Given the description of an element on the screen output the (x, y) to click on. 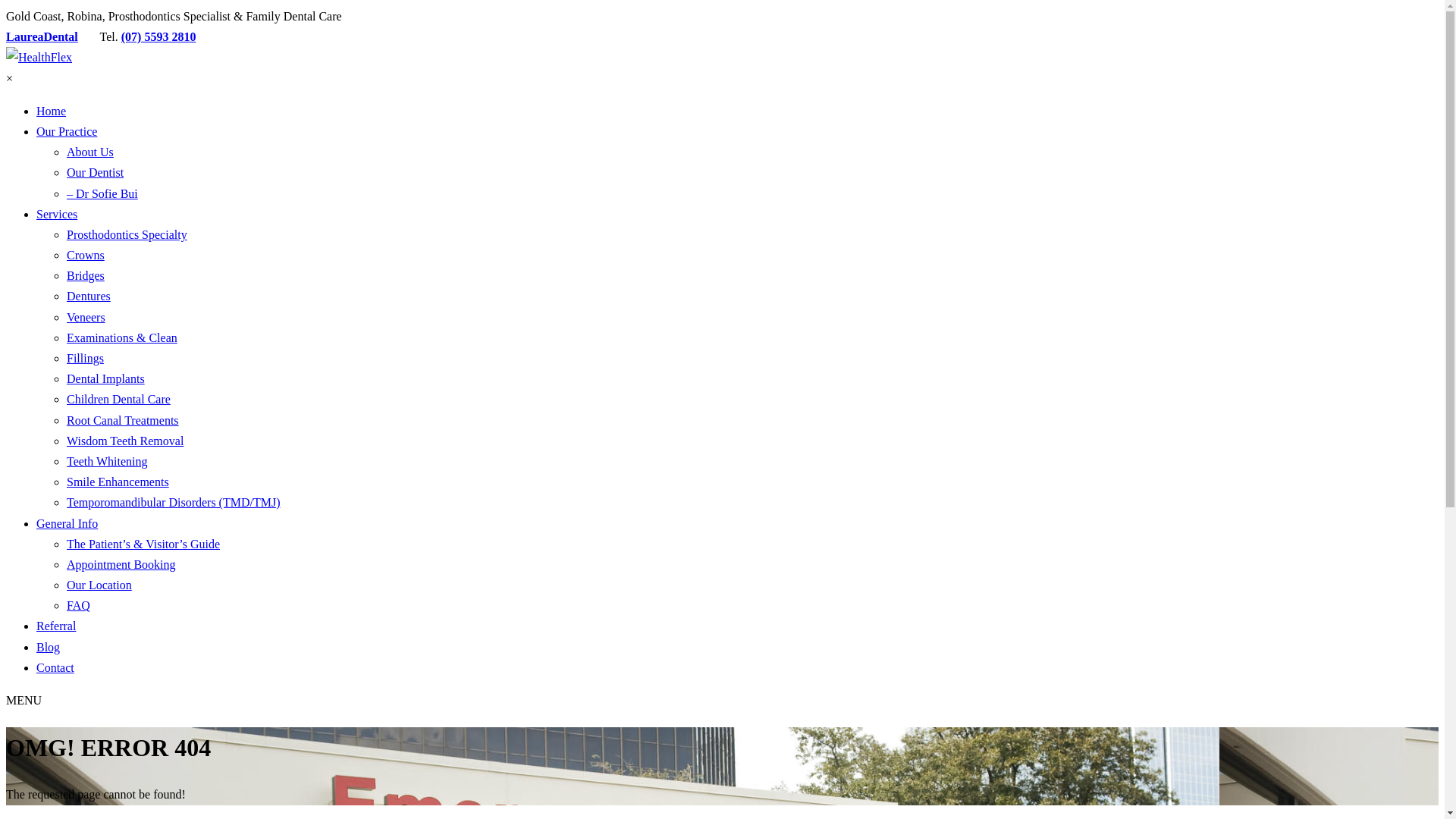
Referral Element type: text (55, 625)
Dentures Element type: text (88, 295)
Teeth Whitening Element type: text (106, 461)
(07) 5593 2810 Element type: text (158, 36)
About Us Element type: text (89, 151)
Services Element type: text (56, 213)
Fillings Element type: text (84, 357)
Our Practice Element type: text (66, 131)
Contact Element type: text (55, 667)
Bridges Element type: text (85, 275)
Temporomandibular Disorders (TMD/TMJ) Element type: text (173, 501)
Home Element type: text (50, 110)
Appointment Booking Element type: text (120, 564)
Veneers Element type: text (85, 316)
Blog Element type: text (47, 646)
Dental Implants Element type: text (105, 378)
Root Canal Treatments Element type: text (122, 420)
Children Dental Care Element type: text (118, 398)
Our Dentist Element type: text (94, 172)
FAQ Element type: text (78, 605)
Examinations & Clean Element type: text (121, 337)
LaureaDental Element type: text (42, 36)
Crowns Element type: text (85, 254)
Smile Enhancements Element type: text (117, 481)
Our Location Element type: text (98, 584)
Prosthodontics Specialty Element type: text (126, 234)
Wisdom Teeth Removal Element type: text (124, 440)
General Info Element type: text (66, 523)
